Given the description of an element on the screen output the (x, y) to click on. 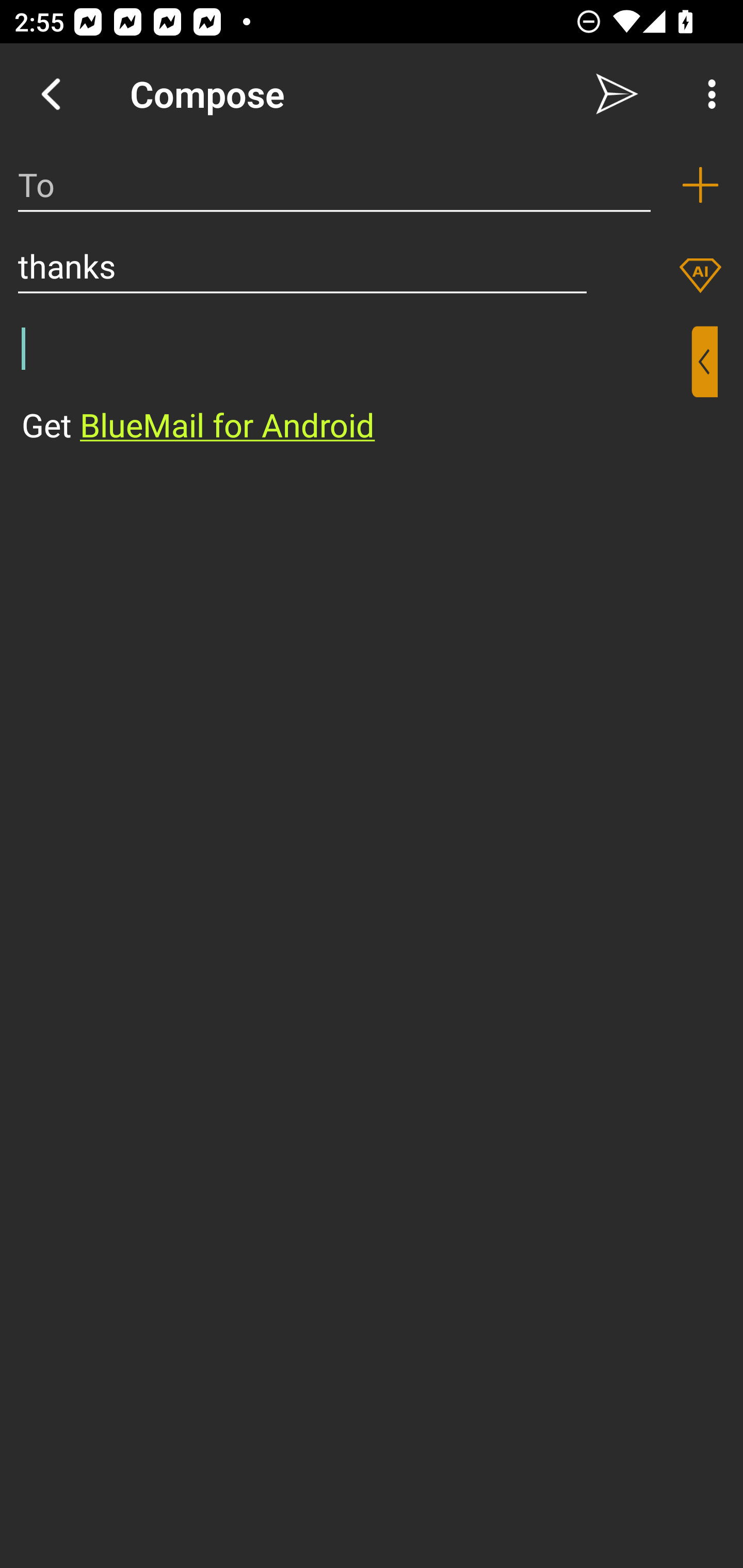
Navigate up (50, 93)
Send (616, 93)
More Options (706, 93)
To (334, 184)
Add recipient (To) (699, 184)
thanks (302, 266)


⁣Get BlueMail for Android ​ (355, 386)
